Given the description of an element on the screen output the (x, y) to click on. 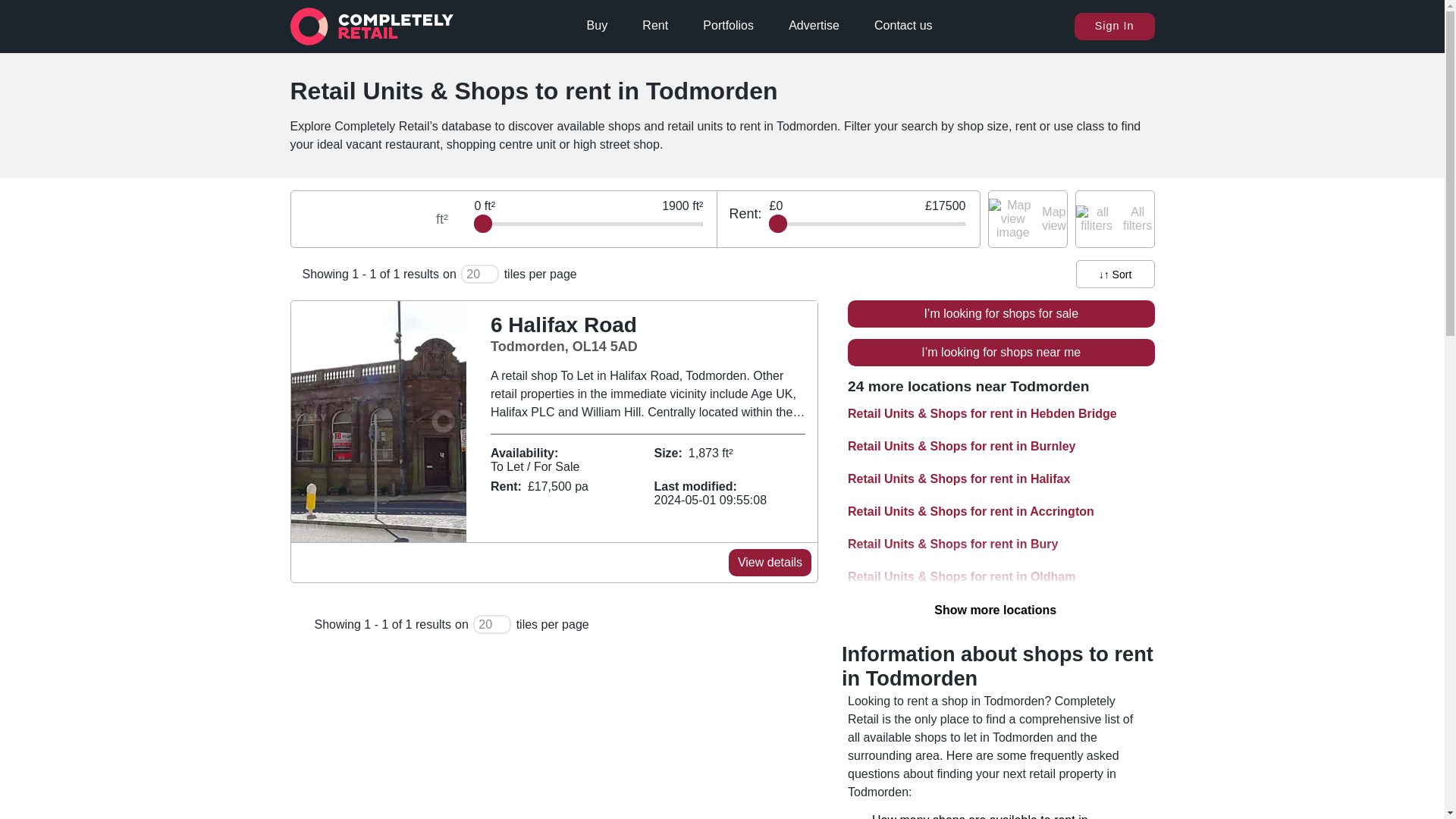
View details (769, 562)
6 Halifax Road (554, 421)
All filters (640, 333)
Portfolios (1114, 219)
Rent (728, 26)
Map view (655, 26)
Sign In (1027, 219)
Buy (1114, 26)
Contact us (597, 26)
